Given the description of an element on the screen output the (x, y) to click on. 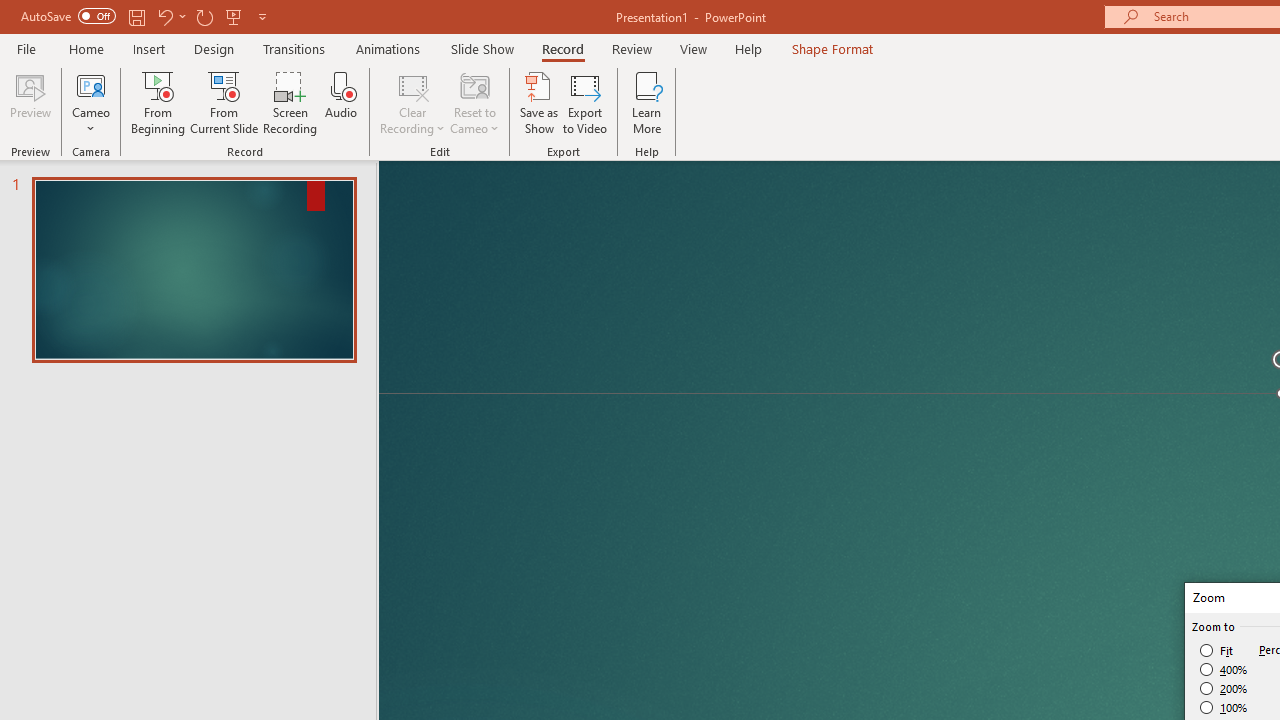
Save as Show (539, 102)
Screen Recording (290, 102)
Shape Format (832, 48)
Reset to Cameo (474, 102)
From Beginning... (158, 102)
200% (1224, 688)
Preview (30, 102)
